Given the description of an element on the screen output the (x, y) to click on. 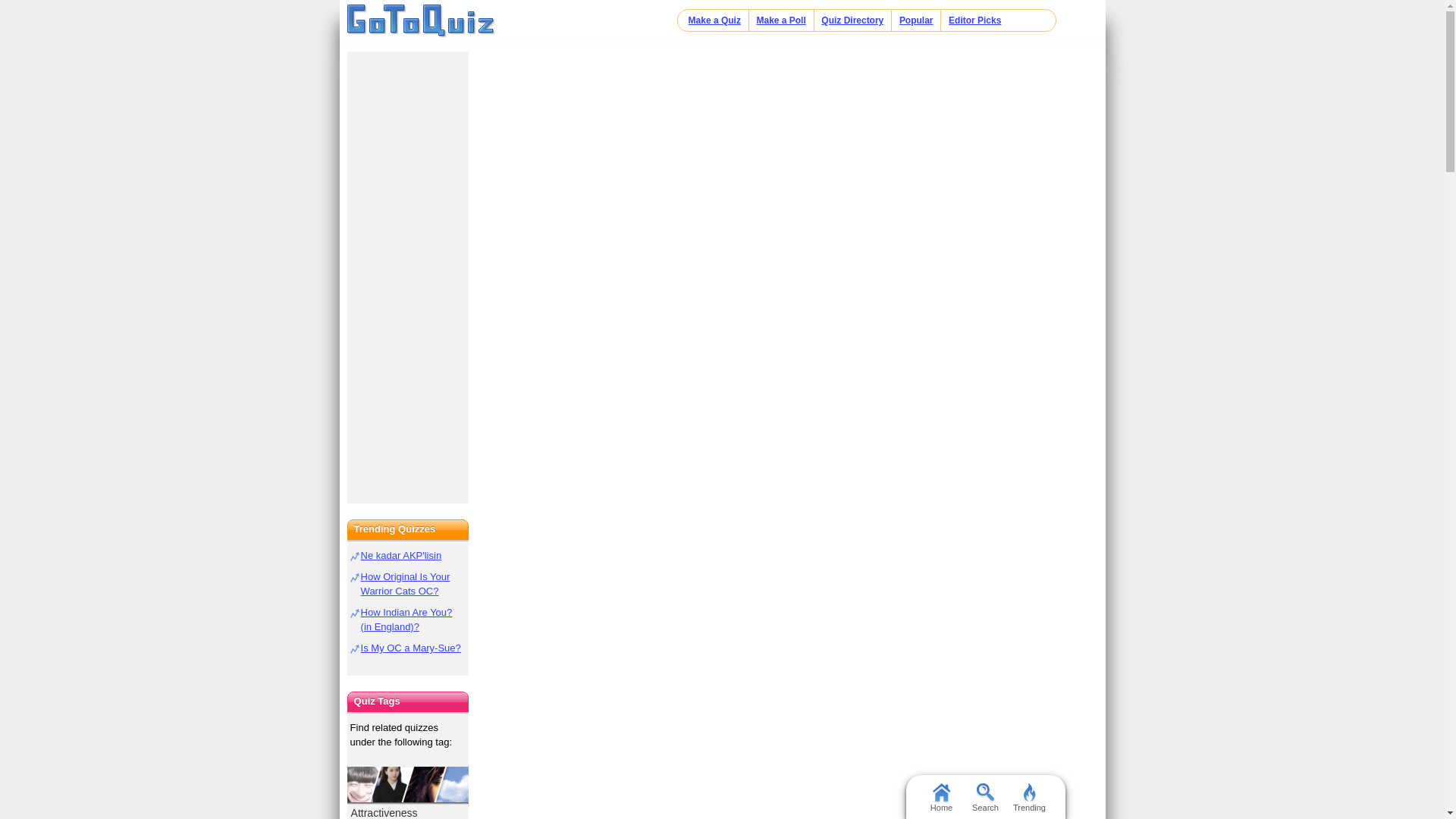
Popular (916, 20)
Quiz Directory (852, 20)
Make a Quiz (714, 20)
Is My OC a Mary-Sue? (411, 647)
How Original Is Your Warrior Cats OC? (405, 583)
Attractiveness (407, 792)
Trending (1029, 796)
Search (984, 796)
Home (940, 796)
Make a Poll (780, 20)
Ne kadar AKP'lisin (401, 555)
Editor Picks (975, 20)
Home (421, 20)
